Given the description of an element on the screen output the (x, y) to click on. 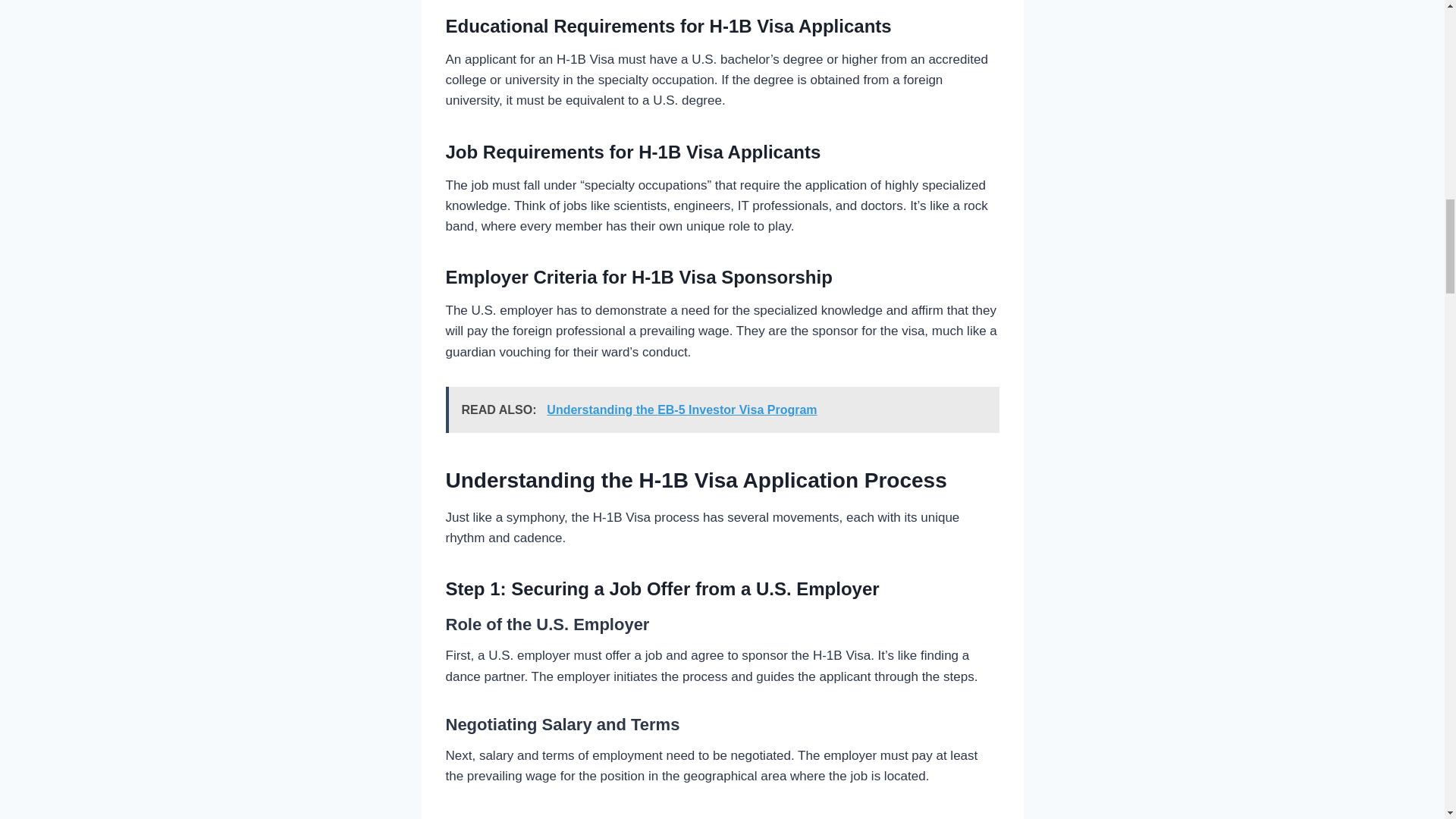
READ ALSO:   Understanding the EB-5 Investor Visa Program (721, 409)
